Given the description of an element on the screen output the (x, y) to click on. 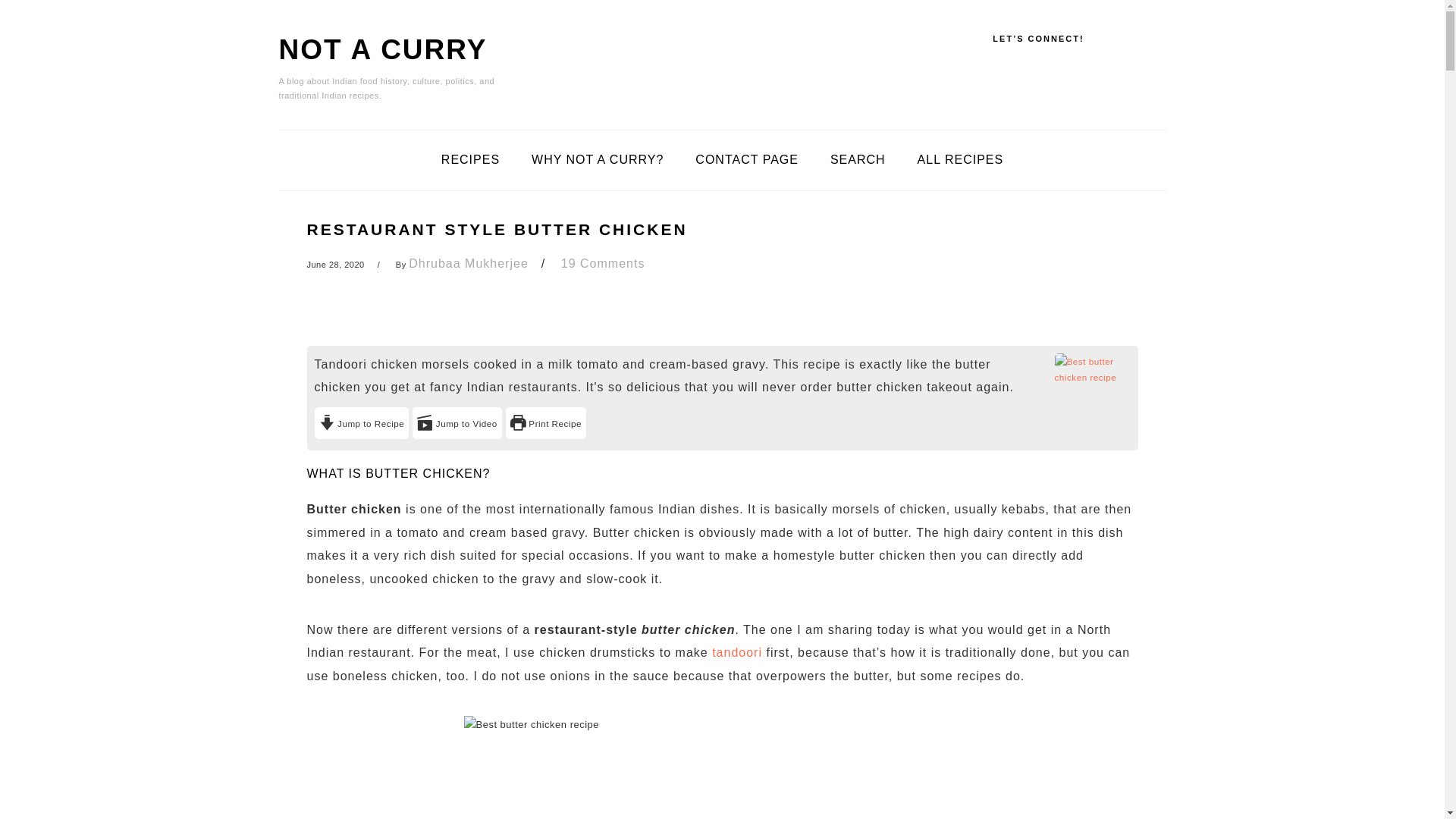
19 Comments (602, 263)
Dhrubaa Mukherjee (468, 263)
tandoori (736, 652)
Jump to Video (457, 422)
RECIPES (470, 159)
ALL RECIPES (960, 159)
Jump to Recipe (361, 422)
SEARCH (857, 159)
WHY NOT A CURRY? (597, 159)
CONTACT PAGE (746, 159)
Print Recipe (545, 422)
NOT A CURRY (383, 49)
tandoori (736, 652)
